Given the description of an element on the screen output the (x, y) to click on. 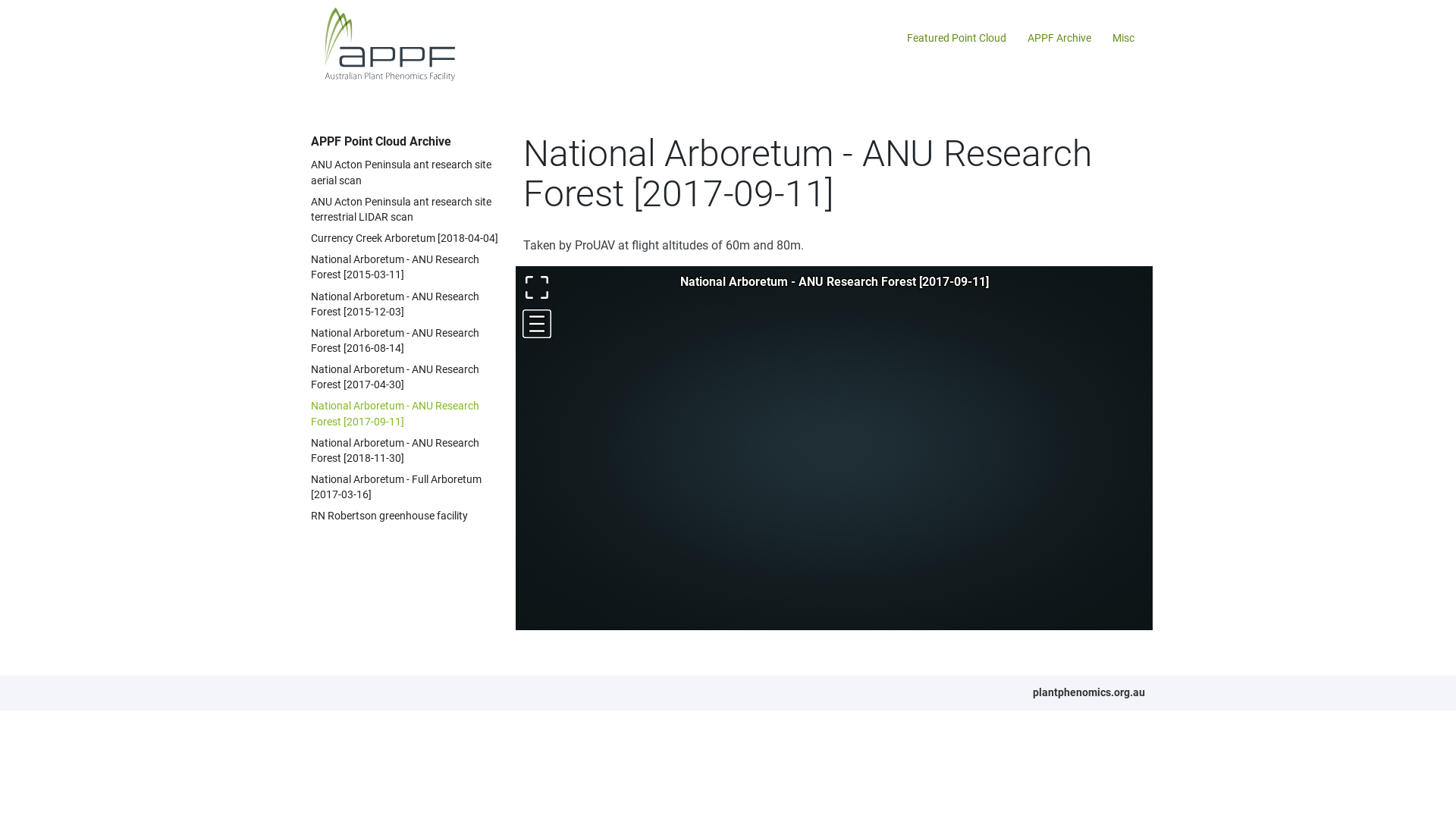
Misc Element type: text (1123, 38)
Featured Point Cloud Element type: text (956, 38)
plantphenomics.org.au Element type: text (1088, 692)
FR Element type: text (576, 295)
National Arboretum - Full Arboretum [2017-03-16] Element type: text (395, 487)
Remove all measurements Element type: hover (623, 512)
DE Element type: text (599, 295)
National Arboretum - ANU Research Forest [2017-09-11] Element type: text (394, 413)
National Arboretum - ANU Research Forest [2015-12-03] Element type: text (394, 304)
Currency Creek Arboretum [2018-04-04] Element type: text (404, 238)
Back view Element type: hover (623, 717)
Orbit control Element type: hover (623, 668)
Camera Animation Element type: hover (550, 692)
Angle measurement Element type: hover (550, 387)
Full extent Element type: hover (647, 668)
Point measurement Element type: hover (574, 387)
Height profile Element type: hover (598, 411)
twitter Element type: text (652, 276)
Height measurement Element type: hover (623, 387)
Remove all measurements Element type: hover (647, 411)
Fly control Element type: hover (574, 668)
Annotation Element type: hover (623, 411)
Navigation cube Element type: hover (671, 668)
ES Element type: text (643, 295)
ANU Acton Peninsula ant research site terrestrial LIDAR scan Element type: text (400, 209)
Volume measurement Element type: hover (550, 411)
potree.org Element type: text (563, 276)
Front view Element type: hover (598, 717)
JP Element type: text (621, 295)
ANU Acton Peninsula ant research site aerial scan Element type: text (400, 172)
Bottom view Element type: hover (671, 717)
National Arboretum - ANU Research Forest [2015-03-11] Element type: text (394, 267)
github Element type: text (613, 276)
Polygon clip Element type: hover (574, 512)
RN Robertson greenhouse facility Element type: text (388, 515)
Righ view Element type: hover (574, 717)
Volume clip Element type: hover (550, 512)
Helicopter control Element type: hover (598, 668)
National Arboretum - ANU Research Forest [2018-11-30] Element type: text (394, 450)
National Arboretum - ANU Research Forest [2017-04-30] Element type: text (394, 377)
Volume measurement Element type: hover (574, 411)
Compass Element type: hover (696, 668)
SE Element type: text (666, 295)
National Arboretum - ANU Research Forest [2016-08-14] Element type: text (394, 340)
APPF Archive Element type: text (1058, 38)
Left view Element type: hover (550, 717)
Area measurement Element type: hover (696, 387)
Distance measurement Element type: hover (598, 387)
Top view Element type: hover (647, 717)
Earth control Element type: hover (550, 668)
EN Element type: text (553, 295)
Circle measurement Element type: hover (647, 387)
